Given the description of an element on the screen output the (x, y) to click on. 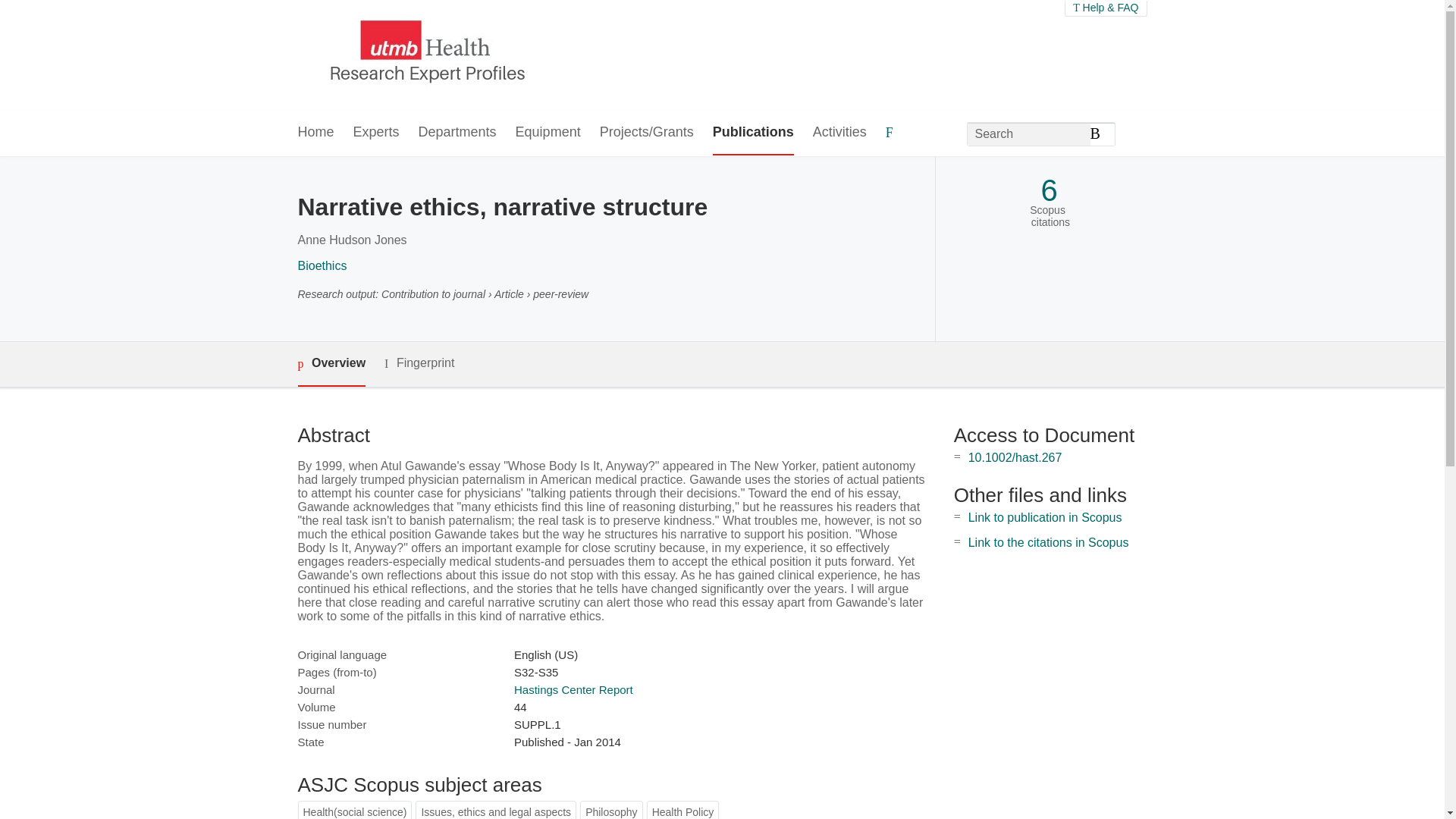
Activities (839, 132)
Fingerprint (419, 363)
Publications (753, 132)
Equipment (547, 132)
Link to the citations in Scopus (1048, 542)
Hastings Center Report (573, 689)
Experts (375, 132)
Bioethics (321, 265)
Link to publication in Scopus (1045, 517)
UTMB Health Research Expert Profiles Home (424, 55)
Overview (331, 364)
Departments (457, 132)
